Given the description of an element on the screen output the (x, y) to click on. 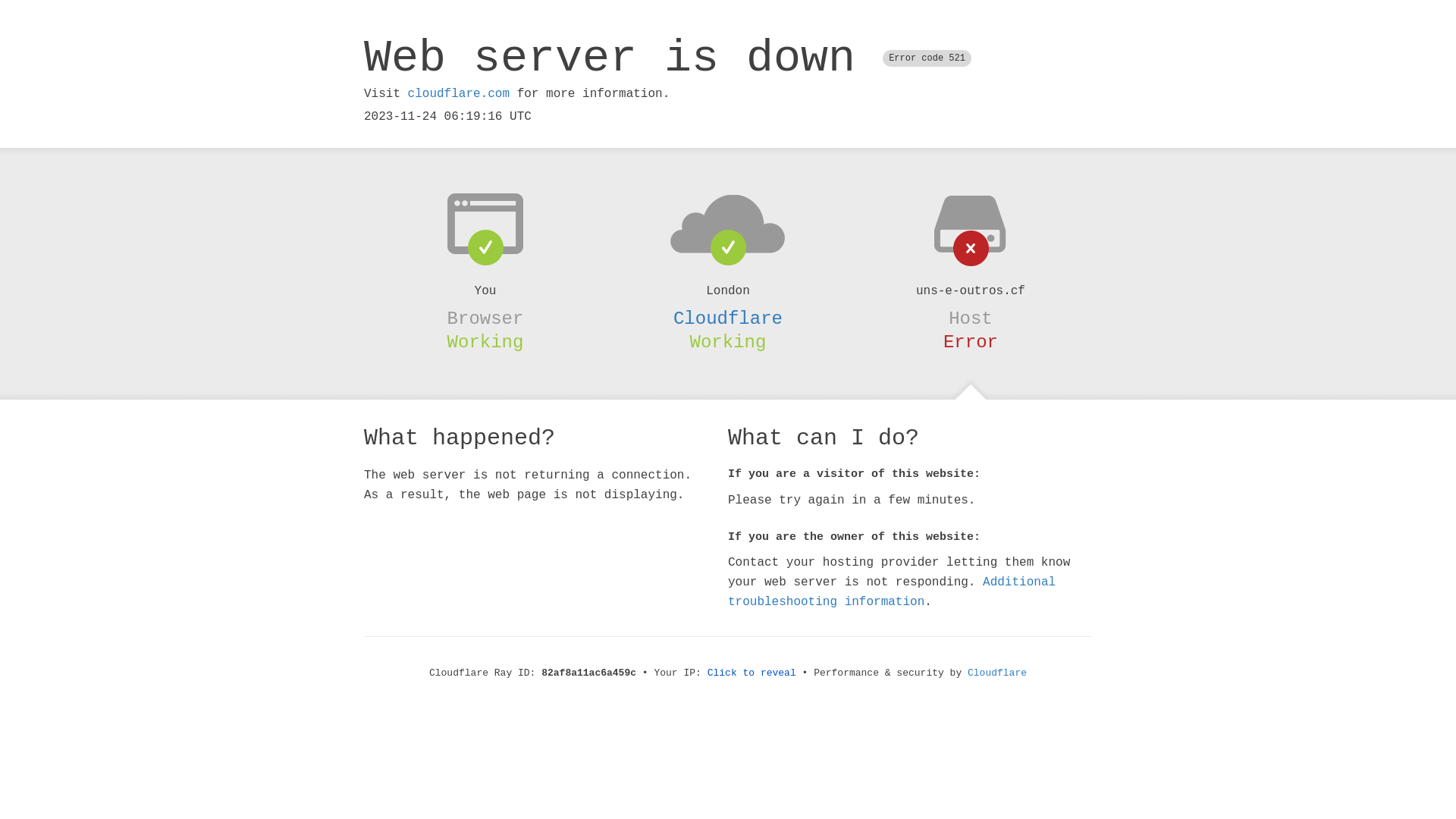
cloudflare.com Element type: text (458, 93)
Cloudflare Element type: text (996, 672)
Click to reveal Element type: text (751, 672)
Cloudflare Element type: text (727, 318)
Additional troubleshooting information Element type: text (891, 591)
